Given the description of an element on the screen output the (x, y) to click on. 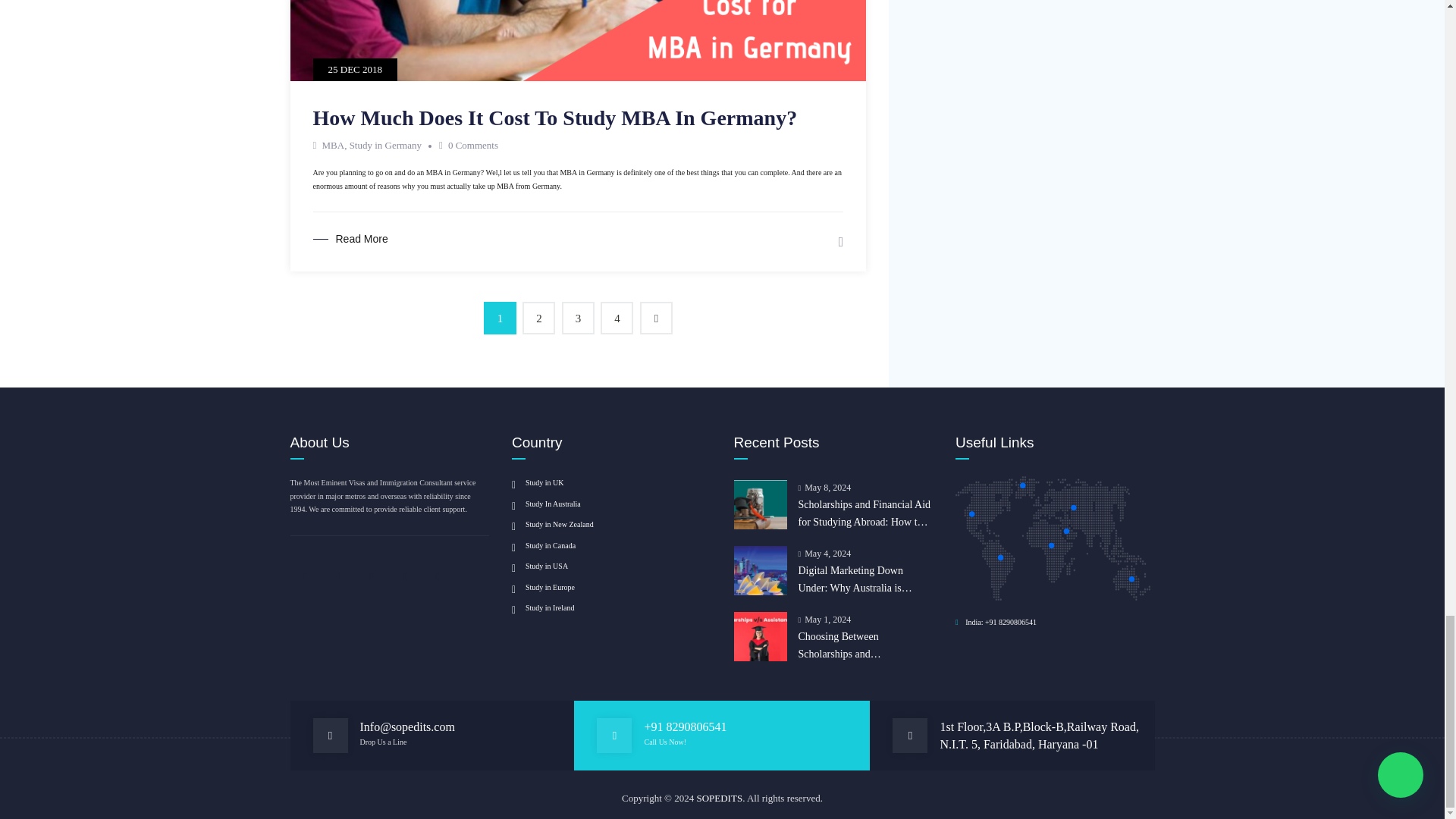
Useful Links (1052, 537)
